Given the description of an element on the screen output the (x, y) to click on. 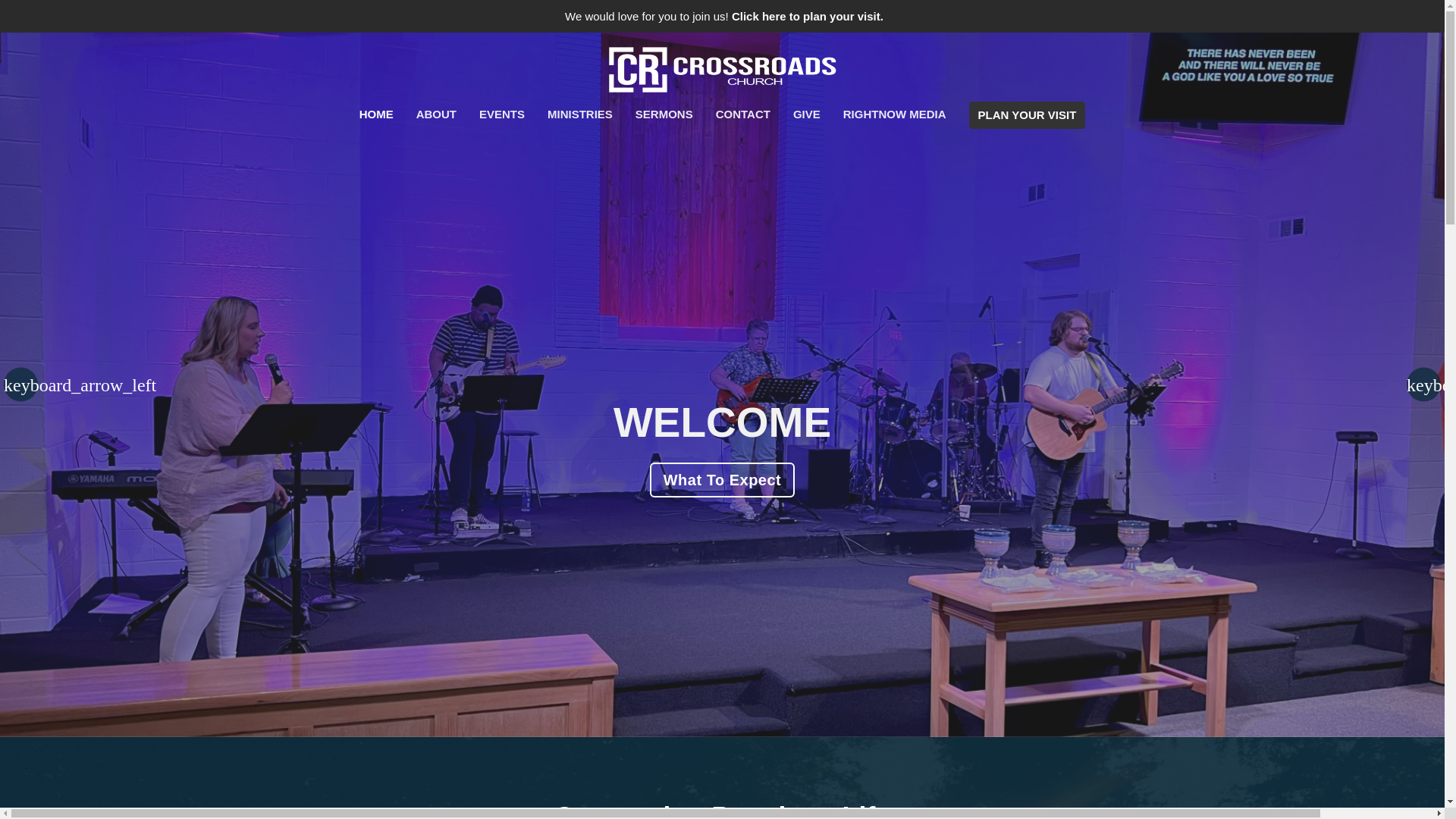
MINISTRIES (579, 113)
CONTACT (743, 113)
ABOUT (436, 113)
1 (698, 748)
RIGHTNOW MEDIA (894, 113)
EVENTS (501, 113)
3 (744, 748)
HOME (376, 113)
2 (721, 748)
PLAN YOUR VISIT (1027, 114)
What To Expect (721, 479)
SERMONS (663, 113)
GIVE (807, 113)
